Given the description of an element on the screen output the (x, y) to click on. 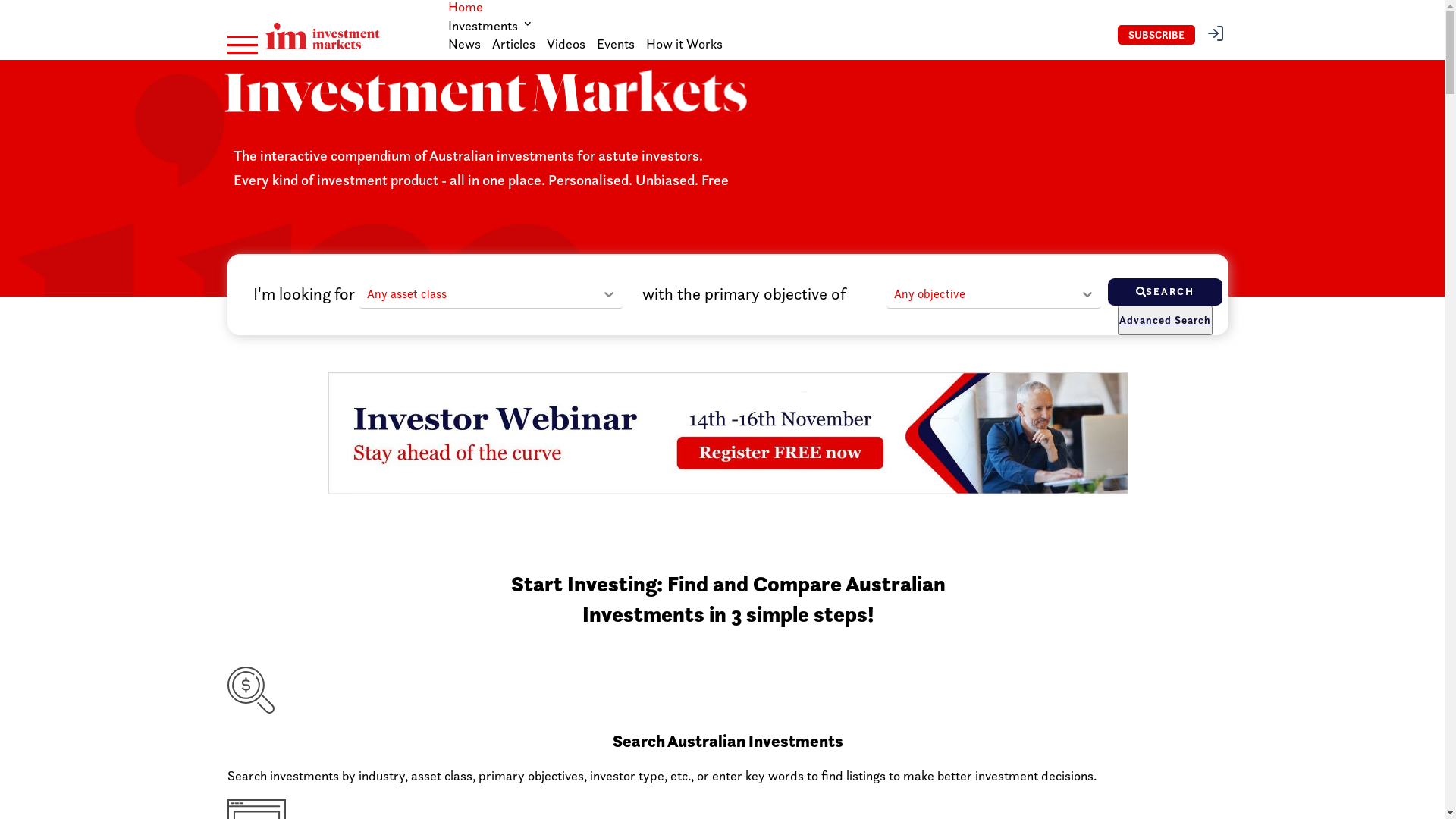
News Element type: text (464, 43)
Events Element type: text (615, 43)
Investments Element type: text (491, 25)
Advanced Search Element type: text (1164, 319)
SUBSCRIBE Element type: text (1156, 34)
SEARCH Element type: text (1164, 291)
Articles Element type: text (513, 43)
Videos Element type: text (565, 43)
How it Works Element type: text (684, 43)
